Given the description of an element on the screen output the (x, y) to click on. 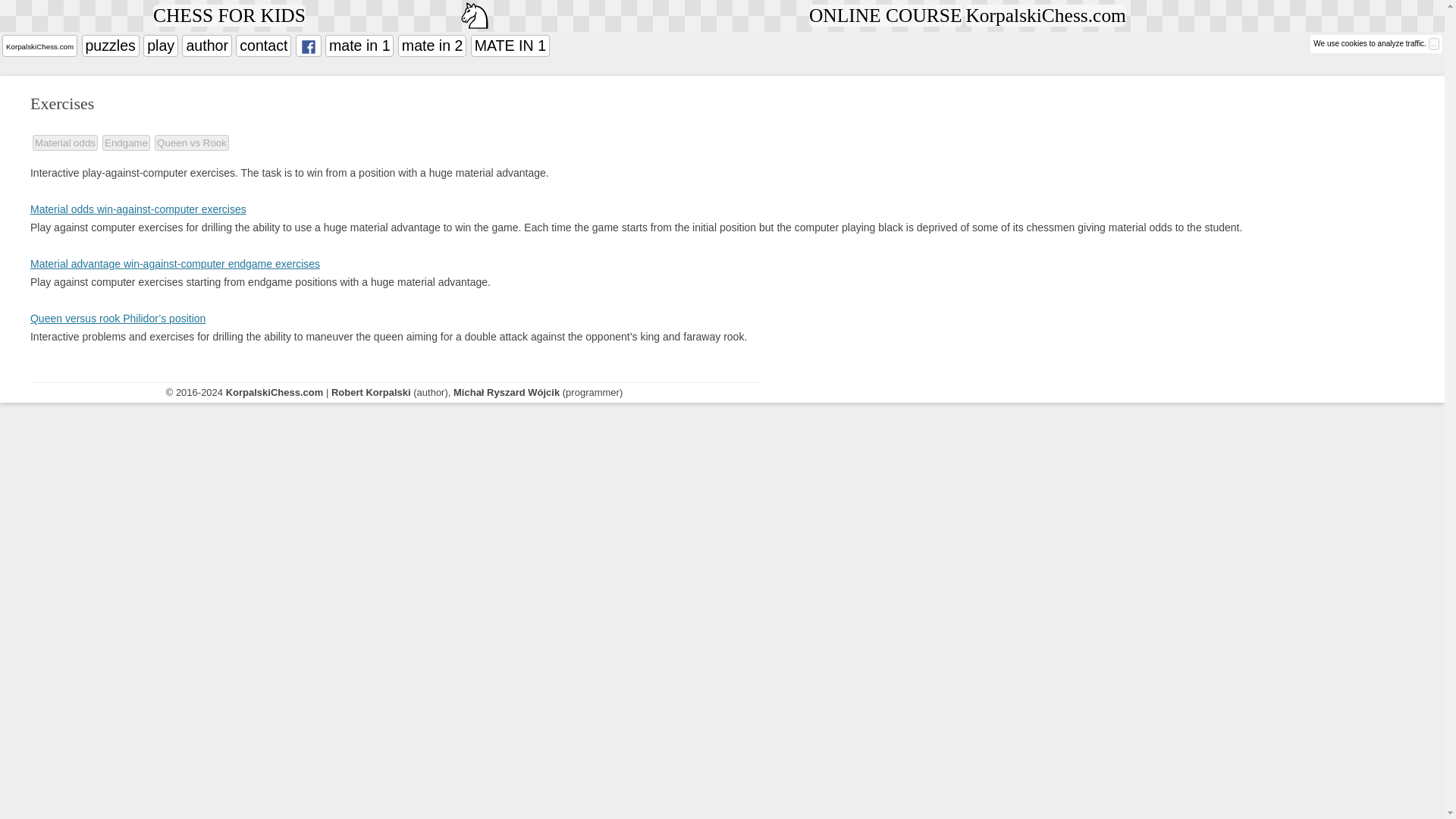
MATE IN 1 (510, 45)
mate in 1 (358, 45)
Queen vs Rook (191, 142)
Material odds (64, 142)
mate in 2 (431, 45)
Material advantage win-against-computer endgame exercises (175, 263)
contact (263, 45)
KorpalskiChess.com (39, 45)
play (159, 45)
Endgame (125, 142)
